Given the description of an element on the screen output the (x, y) to click on. 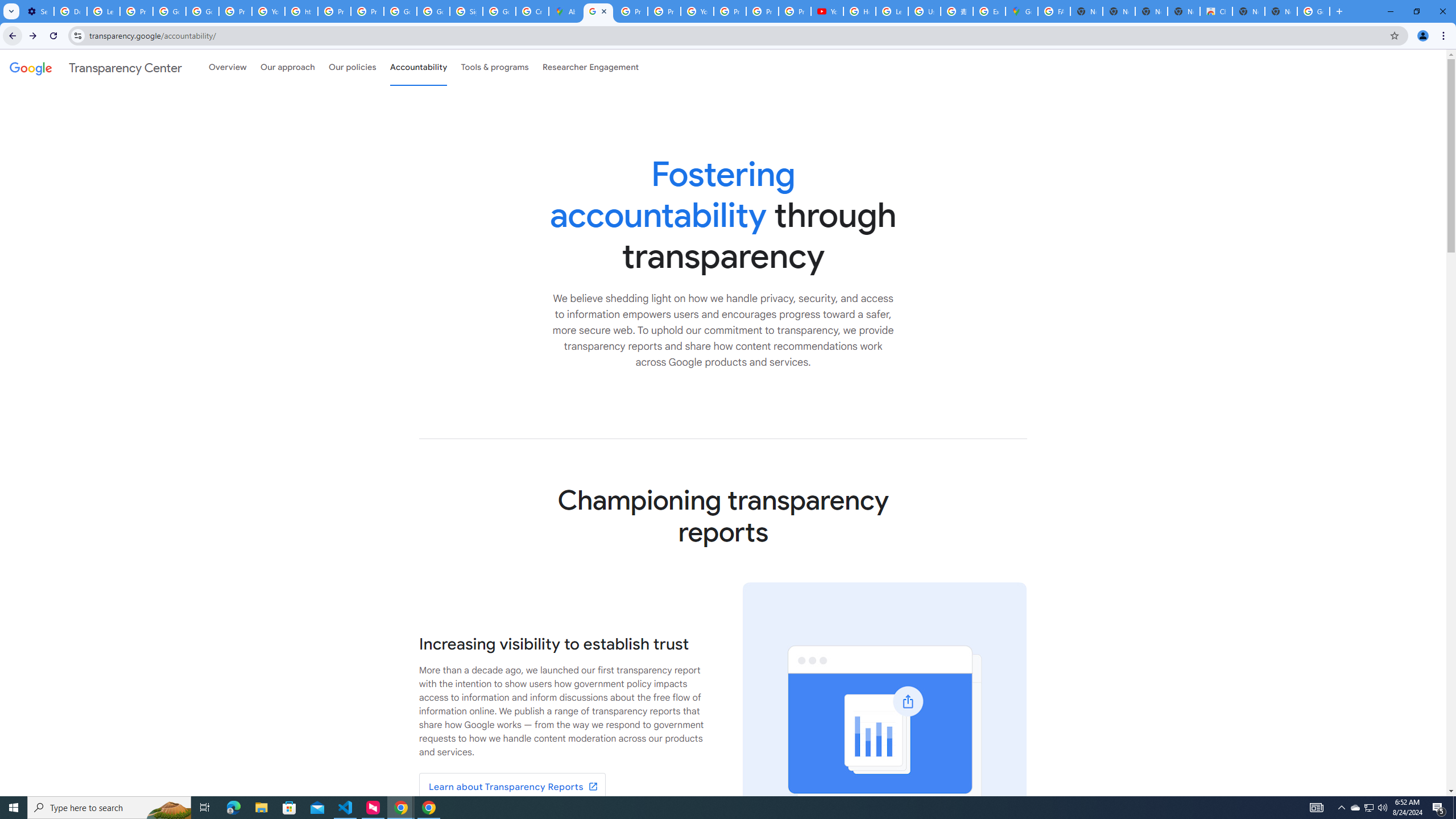
Privacy Help Center - Policies Help (663, 11)
Explore new street-level details - Google Maps Help (989, 11)
New Tab (1281, 11)
Accountability (418, 67)
Learn how to find your photos - Google Photos Help (103, 11)
Google Account Help (169, 11)
